Given the description of an element on the screen output the (x, y) to click on. 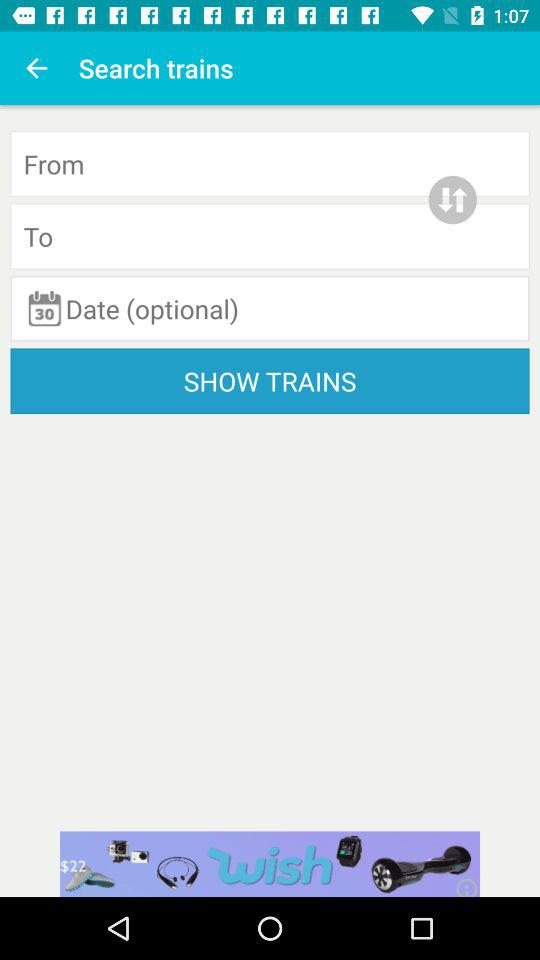
link to advertisement link (270, 864)
